Given the description of an element on the screen output the (x, y) to click on. 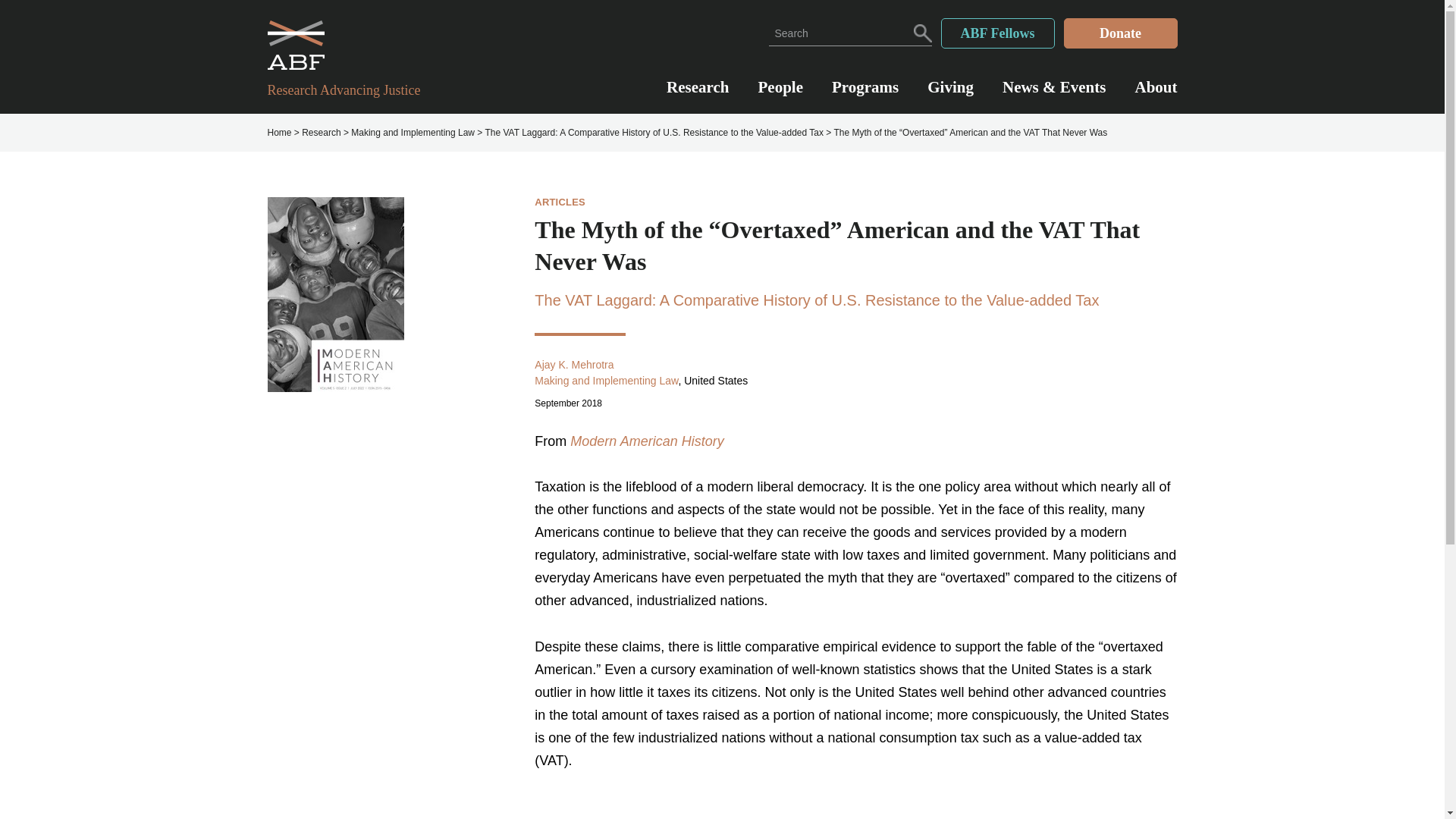
Research (320, 132)
Programs (864, 94)
About (1155, 94)
ABF Fellows (997, 33)
Home (278, 132)
Giving (950, 94)
Donate (1119, 33)
Search (920, 31)
Research (697, 94)
ABF (352, 44)
People (780, 94)
